Given the description of an element on the screen output the (x, y) to click on. 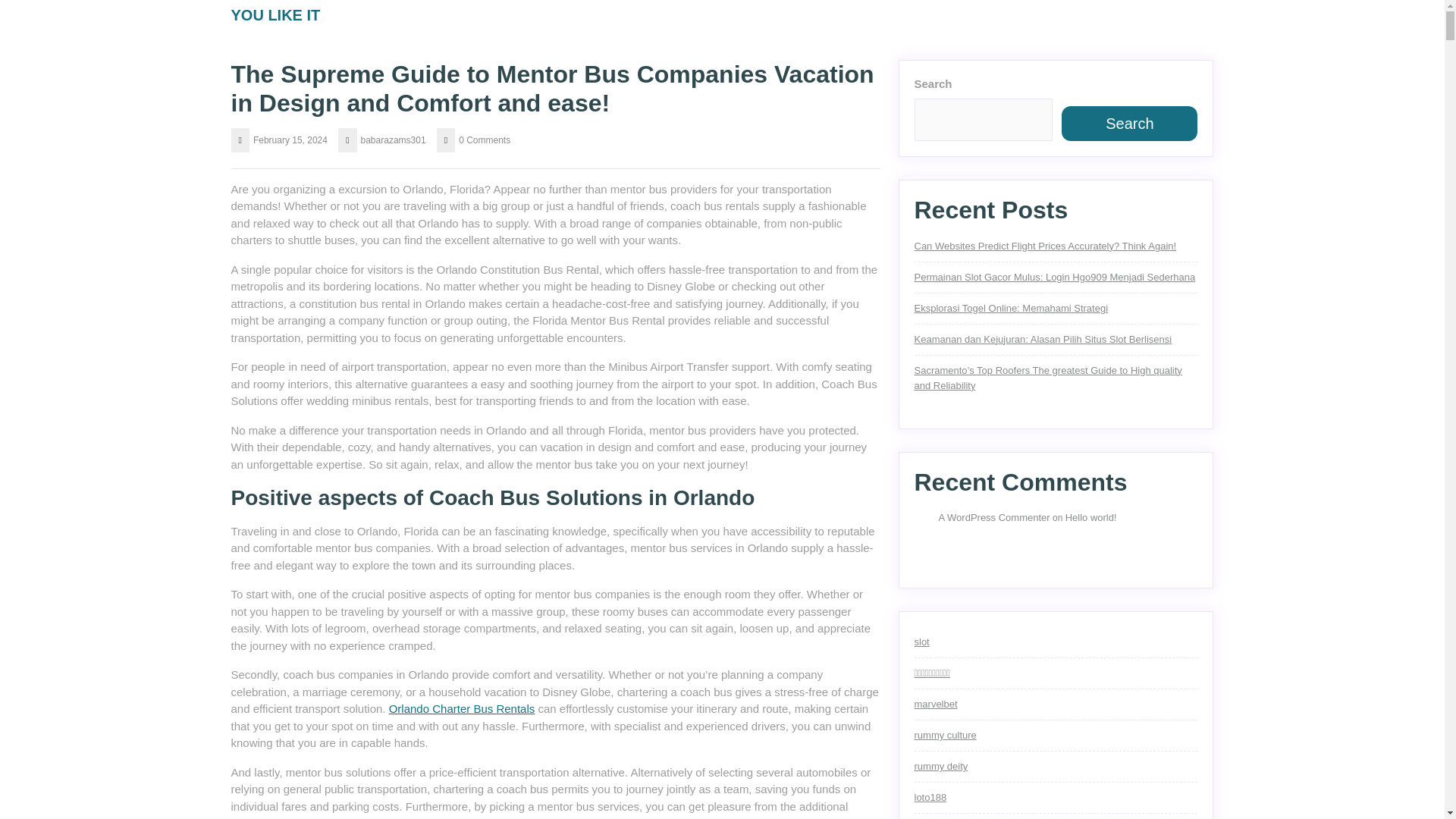
Permainan Slot Gacor Mulus: Login Hgo909 Menjadi Sederhana (1054, 276)
marvelbet (936, 704)
Hello world! (1090, 517)
Can Websites Predict Flight Prices Accurately? Think Again! (1045, 245)
YOU LIKE IT (275, 14)
slot (922, 641)
rummy culture (945, 735)
Orlando Charter Bus Rentals (461, 707)
Eksplorasi Togel Online: Memahami Strategi (1011, 307)
rummy deity (941, 766)
A WordPress Commenter (994, 517)
Keamanan dan Kejujuran: Alasan Pilih Situs Slot Berlisensi (1043, 338)
Search (1128, 123)
loto188 (930, 797)
